Given the description of an element on the screen output the (x, y) to click on. 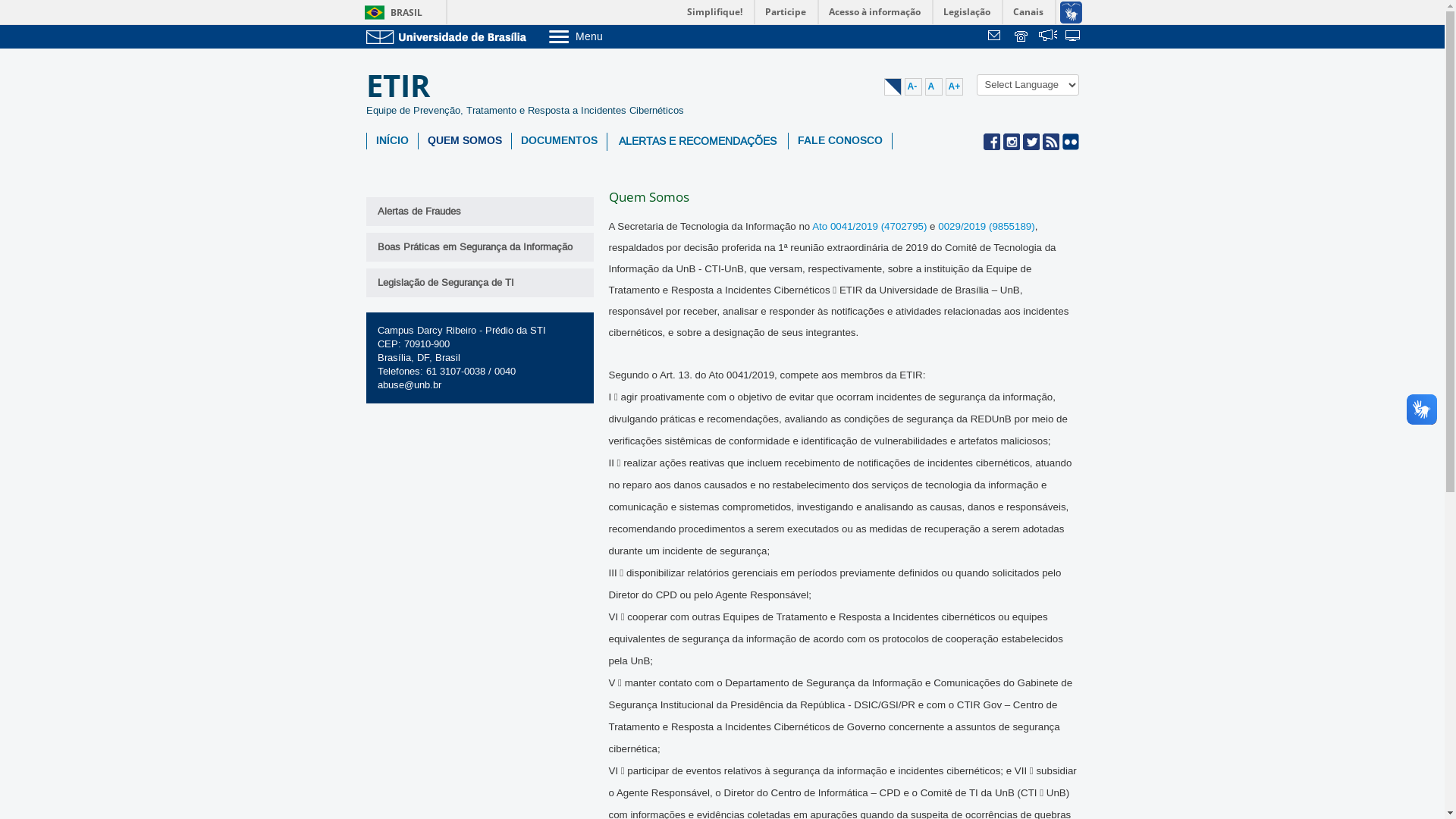
Telefones da UnB Element type: hover (1022, 37)
Menu Element type: text (613, 35)
  Element type: text (996, 37)
  Element type: text (1073, 37)
BRASIL Element type: text (389, 12)
FALE CONOSCO Element type: text (839, 140)
QUEM SOMOS Element type: text (464, 140)
Alertas de Fraudes Element type: text (479, 211)
  Element type: text (1047, 37)
Sistemas Element type: hover (1073, 37)
Ato 0041/2019 (4702795) Element type: text (869, 226)
A Element type: text (933, 86)
Fala.BR Element type: hover (1047, 37)
Ir para o Portal da UnB Element type: hover (448, 36)
A- Element type: text (912, 86)
  Element type: text (1022, 37)
Webmail Element type: hover (996, 37)
DOCUMENTOS Element type: text (558, 140)
0029/2019 (9855189) Element type: text (986, 226)
A+ Element type: text (953, 86)
